Given the description of an element on the screen output the (x, y) to click on. 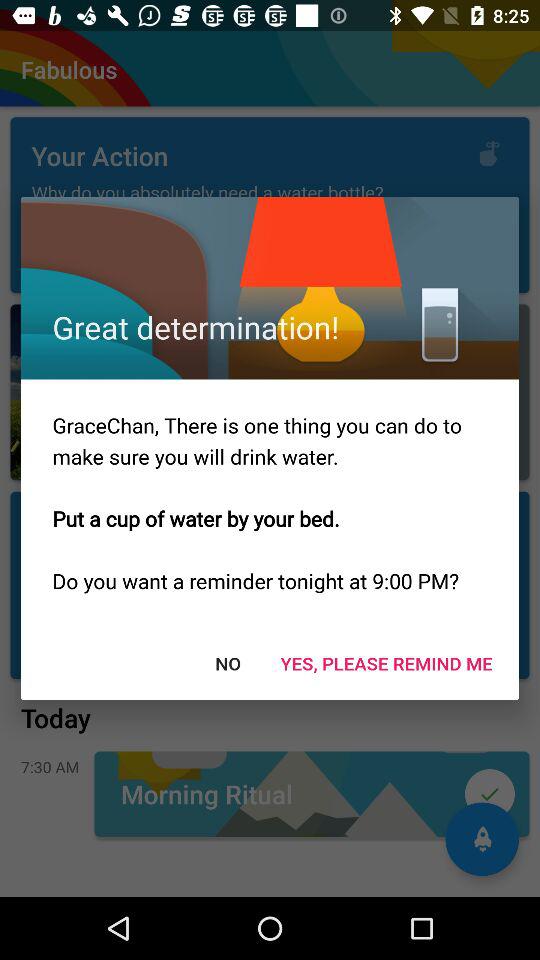
press icon below the gracechan there is (228, 662)
